Given the description of an element on the screen output the (x, y) to click on. 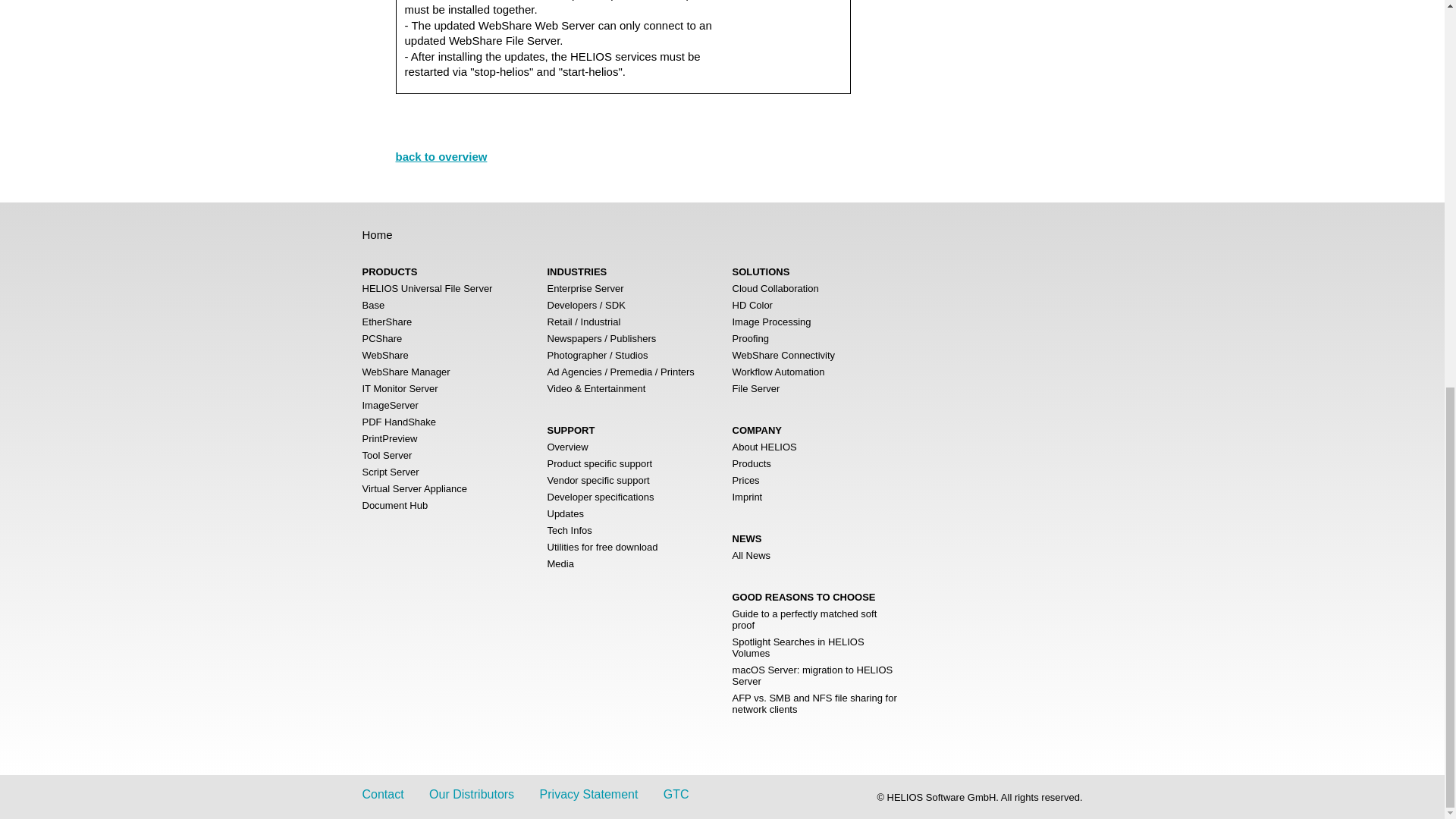
WebShare Connectivity (783, 355)
PrintPreview (389, 438)
WebShare (385, 355)
Proofing (750, 337)
EtherShare (387, 321)
Base (373, 305)
Developer specifications (600, 496)
IT Monitor Server (400, 388)
Script Server (390, 471)
Home (377, 234)
Image Processing (771, 321)
Vendor specific support (598, 480)
back to overview (441, 155)
Workflow Automation (778, 371)
PDF HandShake (399, 421)
